Given the description of an element on the screen output the (x, y) to click on. 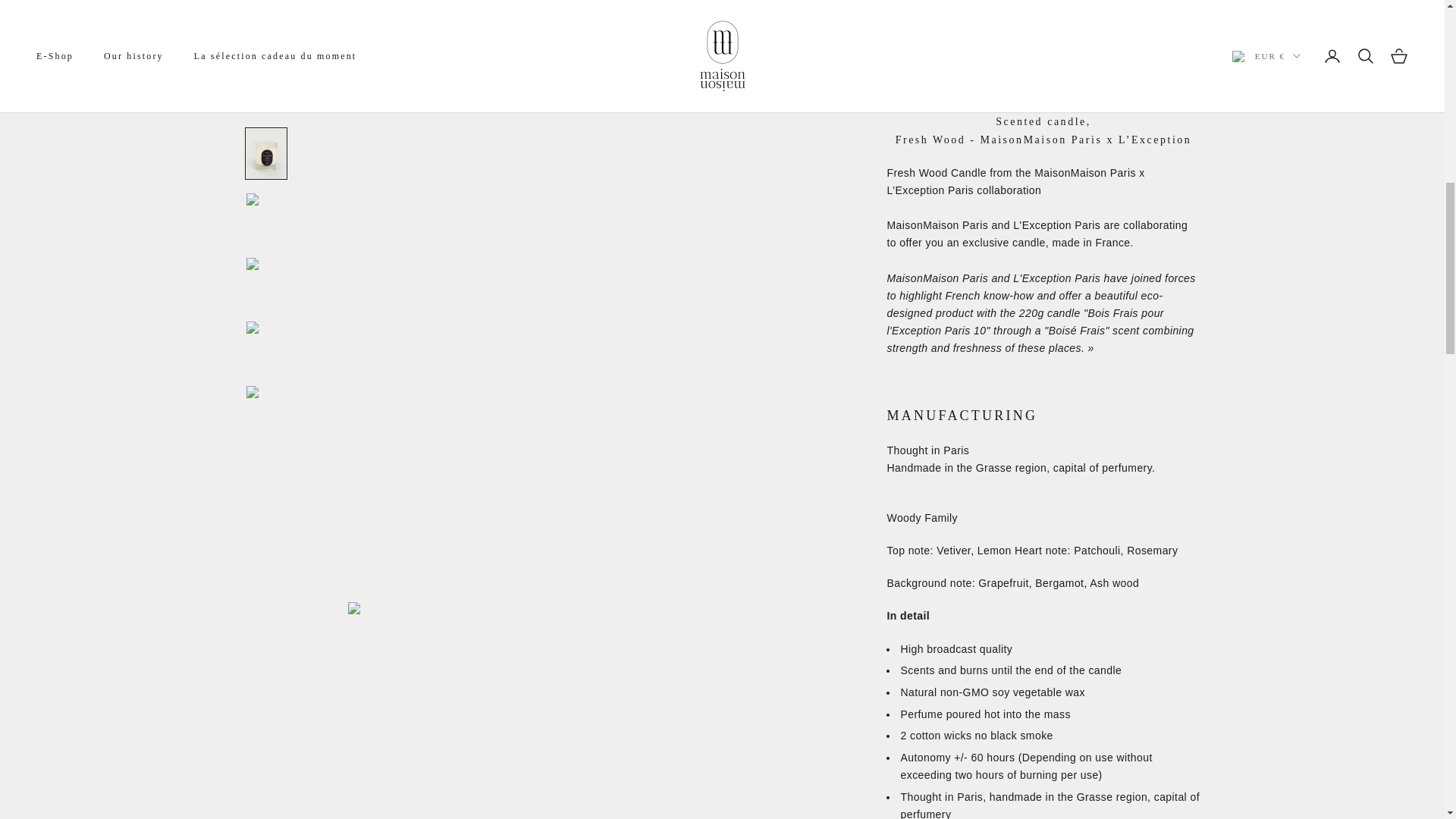
Page 35 (1042, 171)
Page 16 (1042, 170)
1 (935, 376)
